Given the description of an element on the screen output the (x, y) to click on. 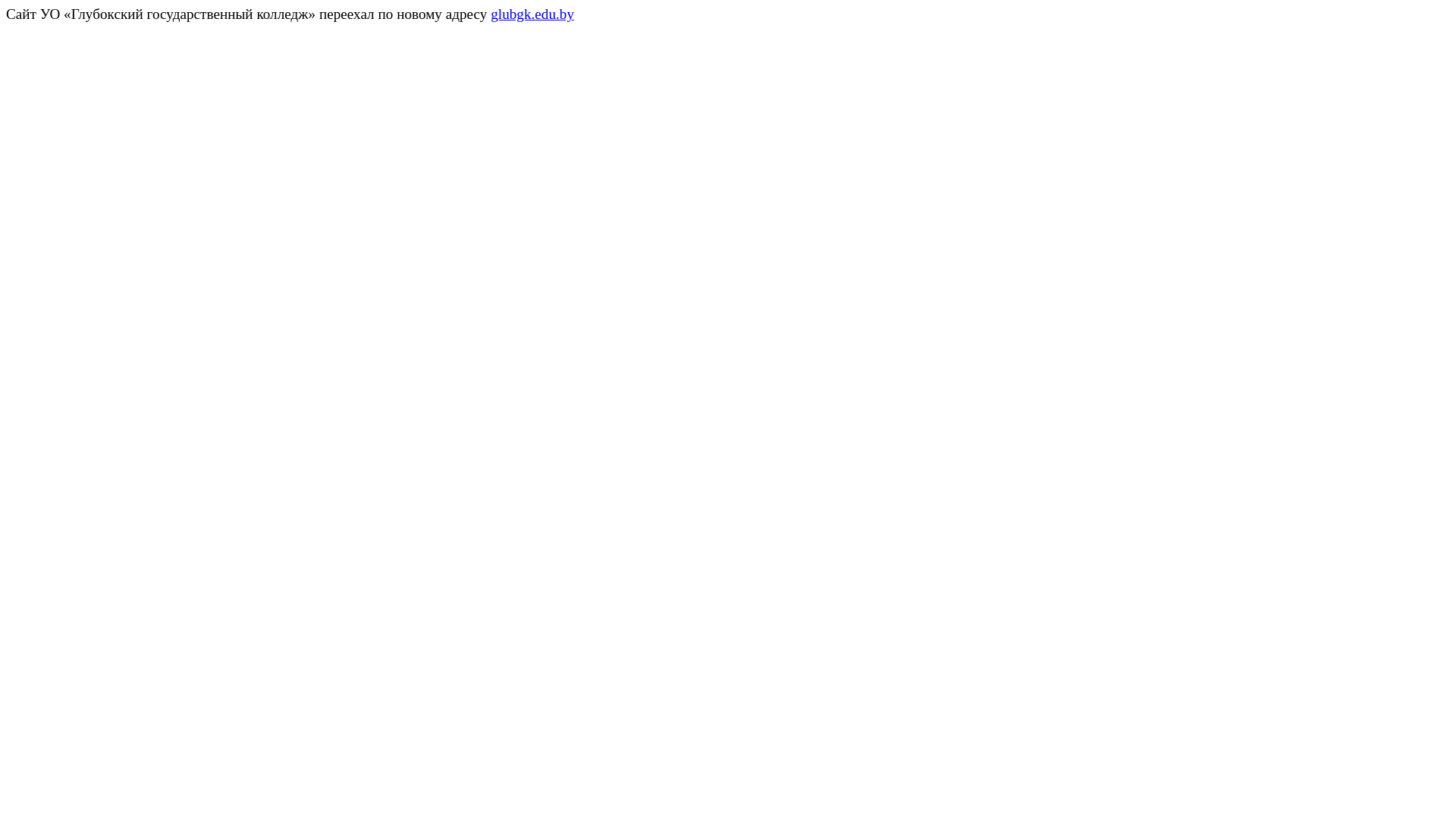
glubgk.edu.by Element type: text (532, 13)
